Given the description of an element on the screen output the (x, y) to click on. 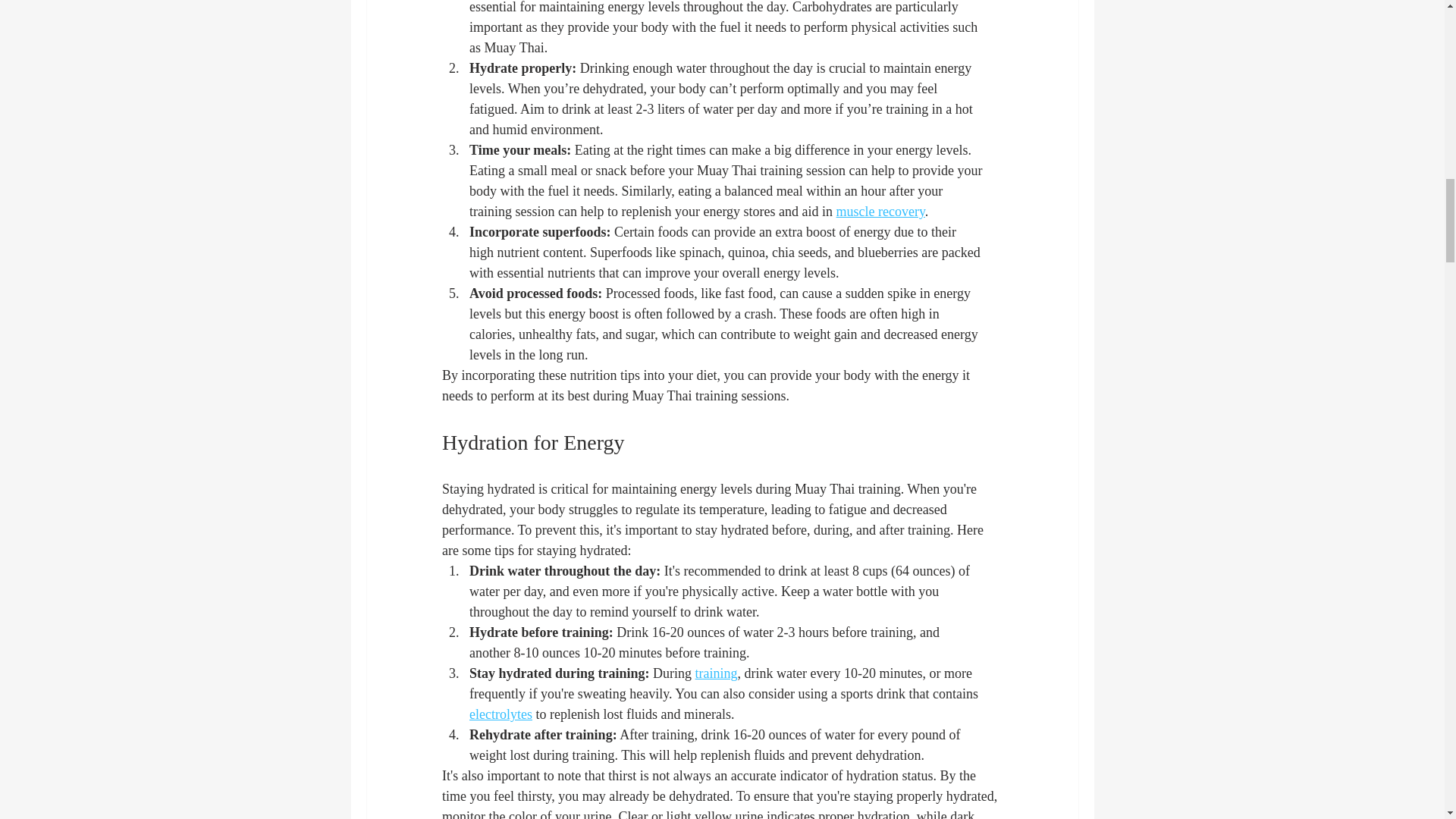
electrolytes (499, 713)
training (715, 672)
muscle recovery (879, 211)
